Given the description of an element on the screen output the (x, y) to click on. 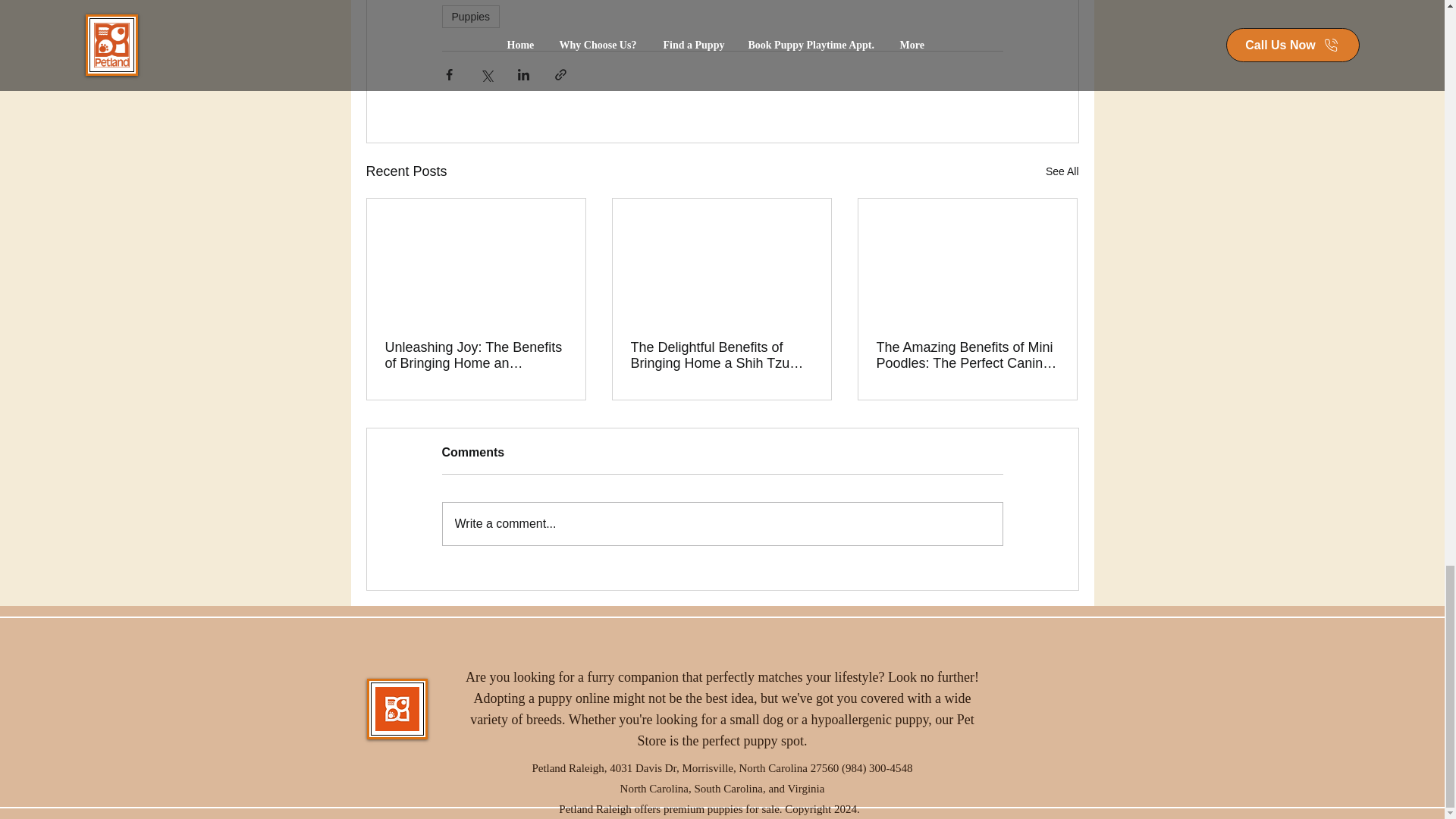
Puppies (470, 15)
Write a comment... (722, 523)
Find Your Puppy Match In Person (397, 708)
See All (1061, 171)
The Delightful Benefits of Bringing Home a Shih Tzu Puppy! (721, 355)
